Given the description of an element on the screen output the (x, y) to click on. 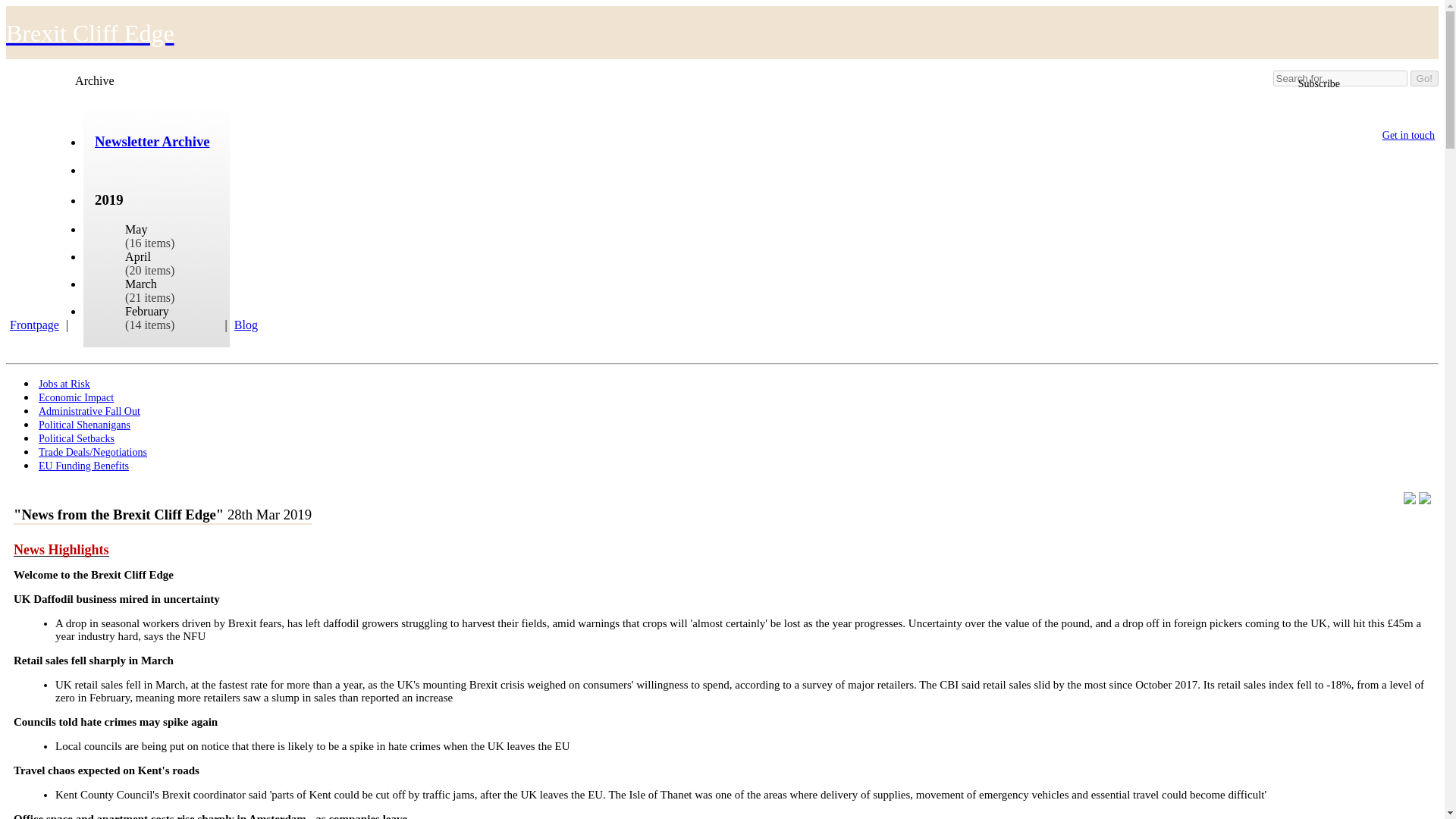
Newsletter Archive (151, 141)
  Subscribe (1315, 84)
Frontpage (37, 324)
